Given the description of an element on the screen output the (x, y) to click on. 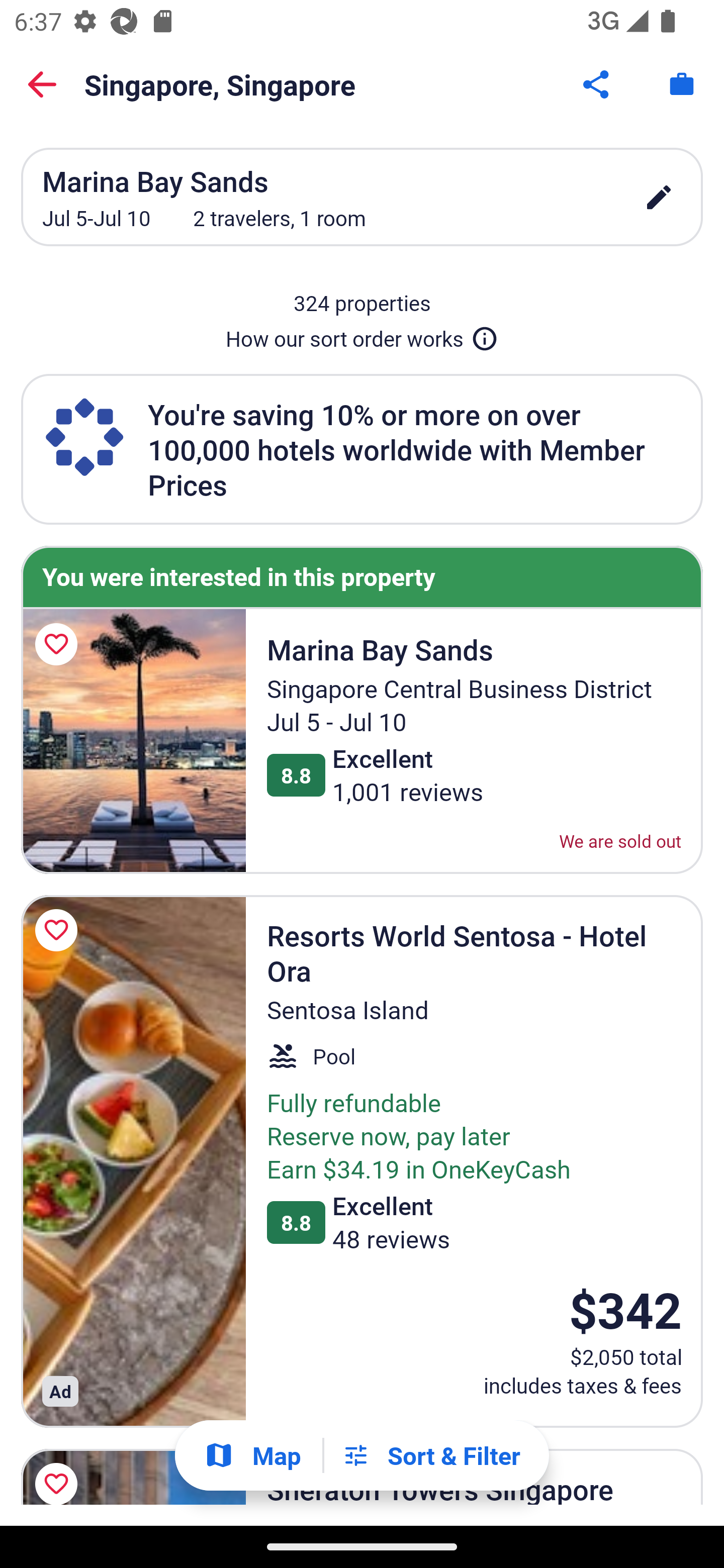
Back (42, 84)
Share Button (597, 84)
Trips. Button (681, 84)
How our sort order works (361, 334)
Save Marina Bay Sands to a trip (59, 644)
Marina Bay Sands (133, 740)
Save Resorts World Sentosa - Hotel Ora to a trip (59, 929)
Resorts World Sentosa - Hotel Ora (133, 1161)
Marina Bay Sands (128, 1342)
Filters Sort & Filter Filters Button (430, 1455)
Show map Map Show map Button (252, 1455)
Save Sheraton Towers Singapore to a trip (59, 1473)
